Given the description of an element on the screen output the (x, y) to click on. 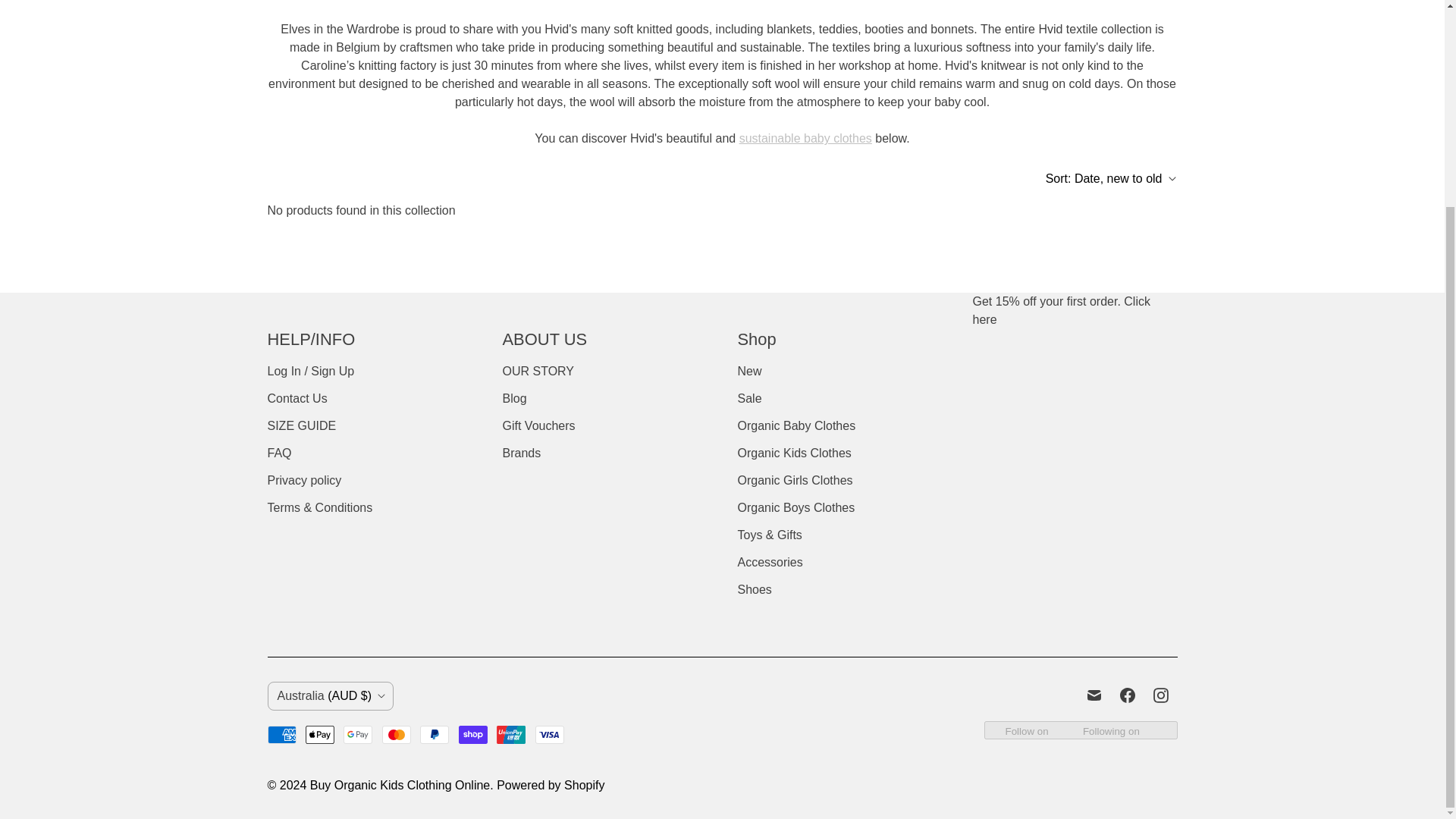
Mastercard (395, 734)
Shop Pay (472, 734)
PayPal (434, 734)
Visa (549, 734)
Apple Pay (319, 734)
American Express (280, 734)
Google Pay (357, 734)
Union Pay (510, 734)
